Given the description of an element on the screen output the (x, y) to click on. 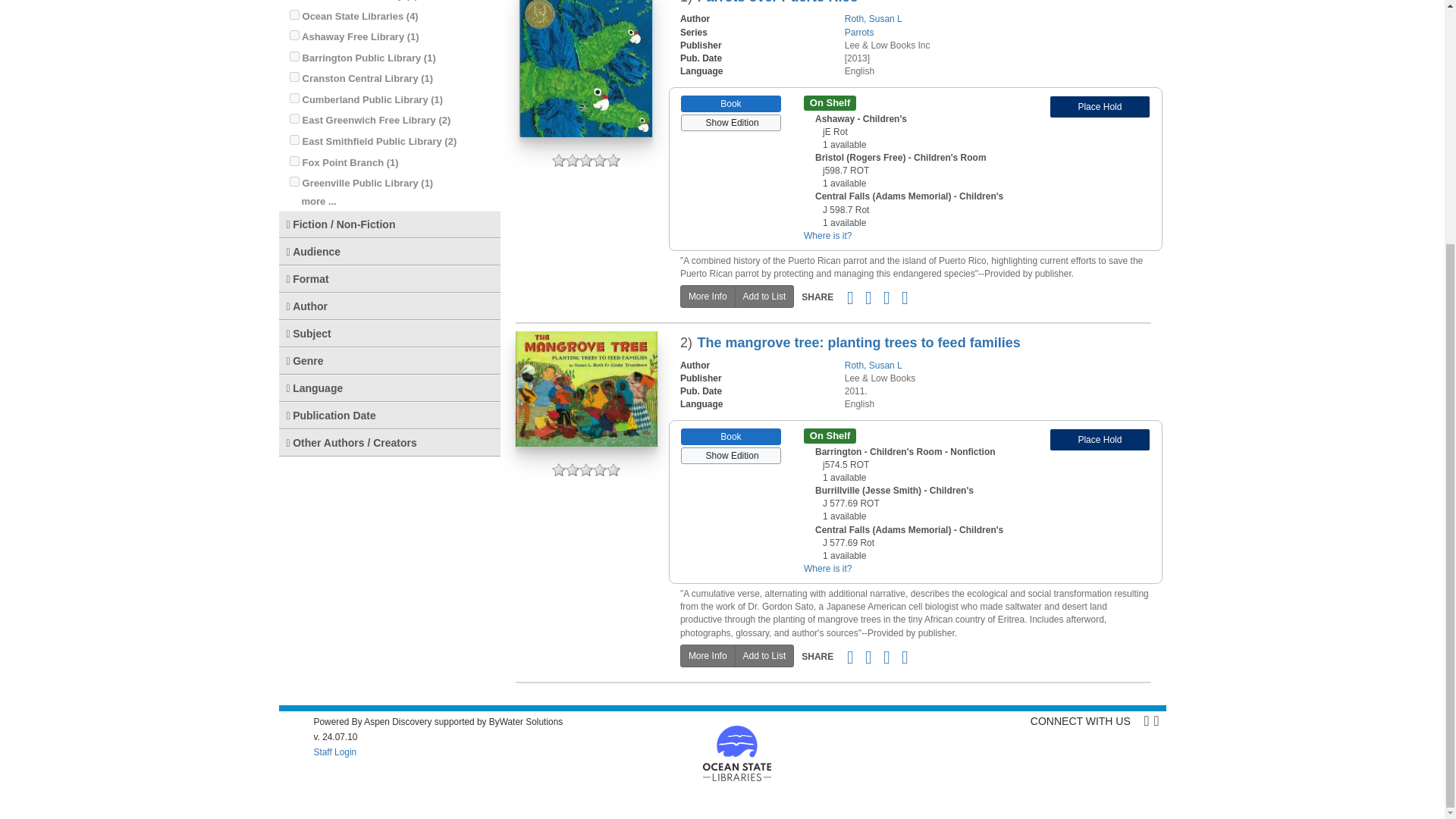
on (294, 76)
on (294, 118)
on (294, 35)
on (294, 139)
on (294, 56)
on (294, 161)
on (294, 98)
on (294, 14)
on (294, 181)
